Given the description of an element on the screen output the (x, y) to click on. 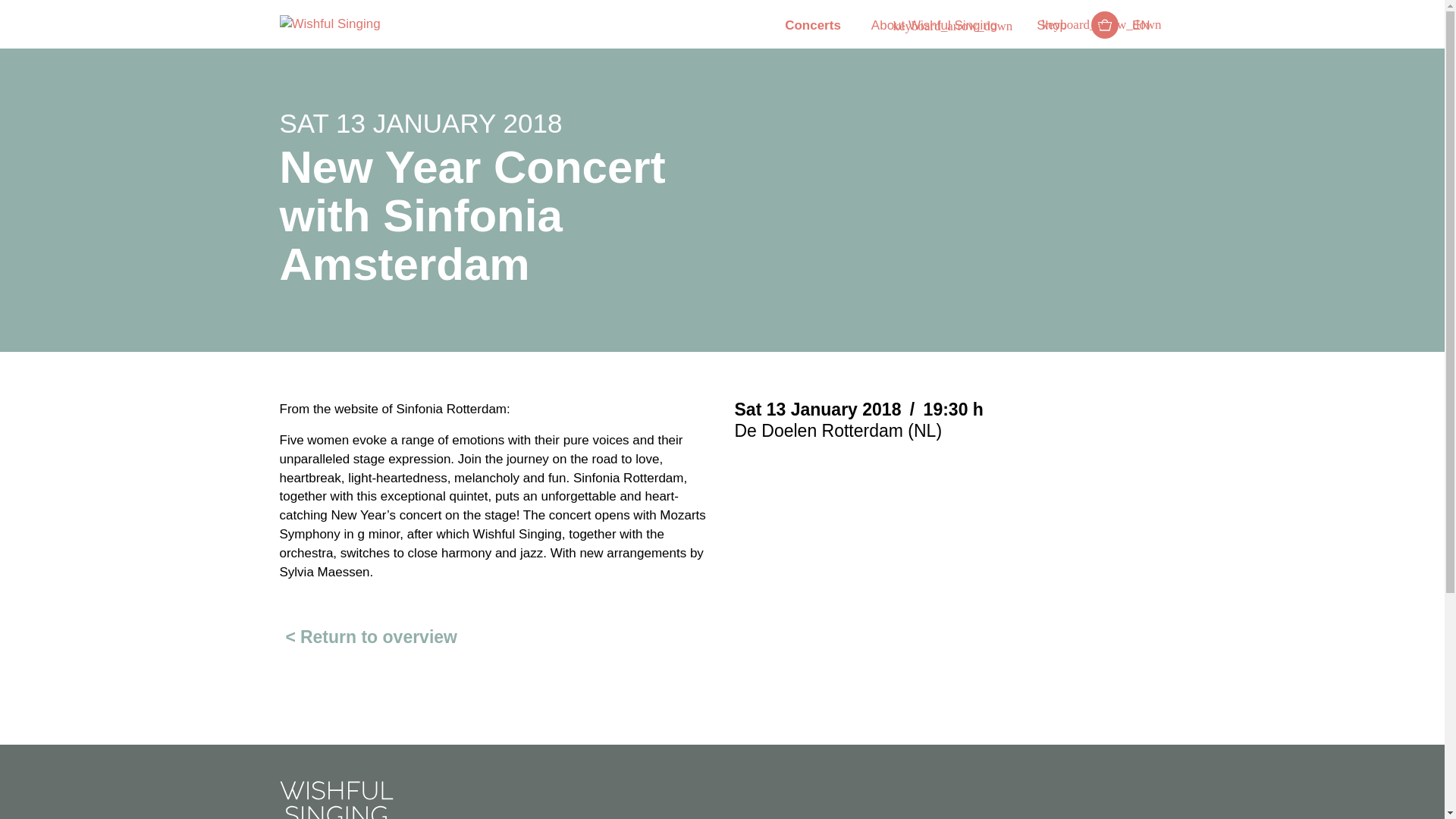
Return to overview (368, 637)
About Wishful Singing (934, 27)
Shop (1051, 27)
Concerts (813, 27)
Cart (1104, 25)
Return to overview (368, 637)
